Given the description of an element on the screen output the (x, y) to click on. 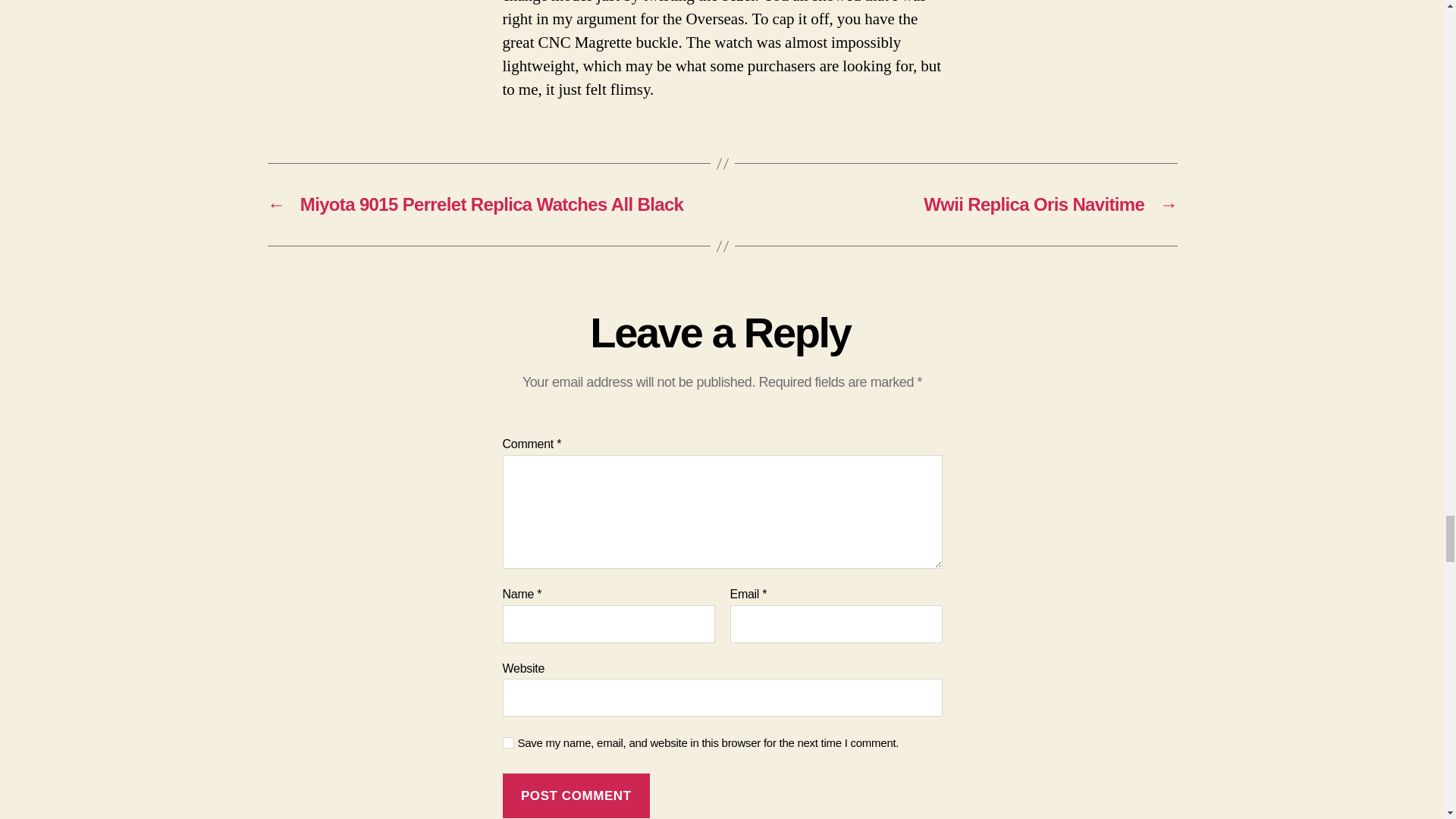
Post Comment (575, 795)
yes (507, 742)
Post Comment (575, 795)
